Given the description of an element on the screen output the (x, y) to click on. 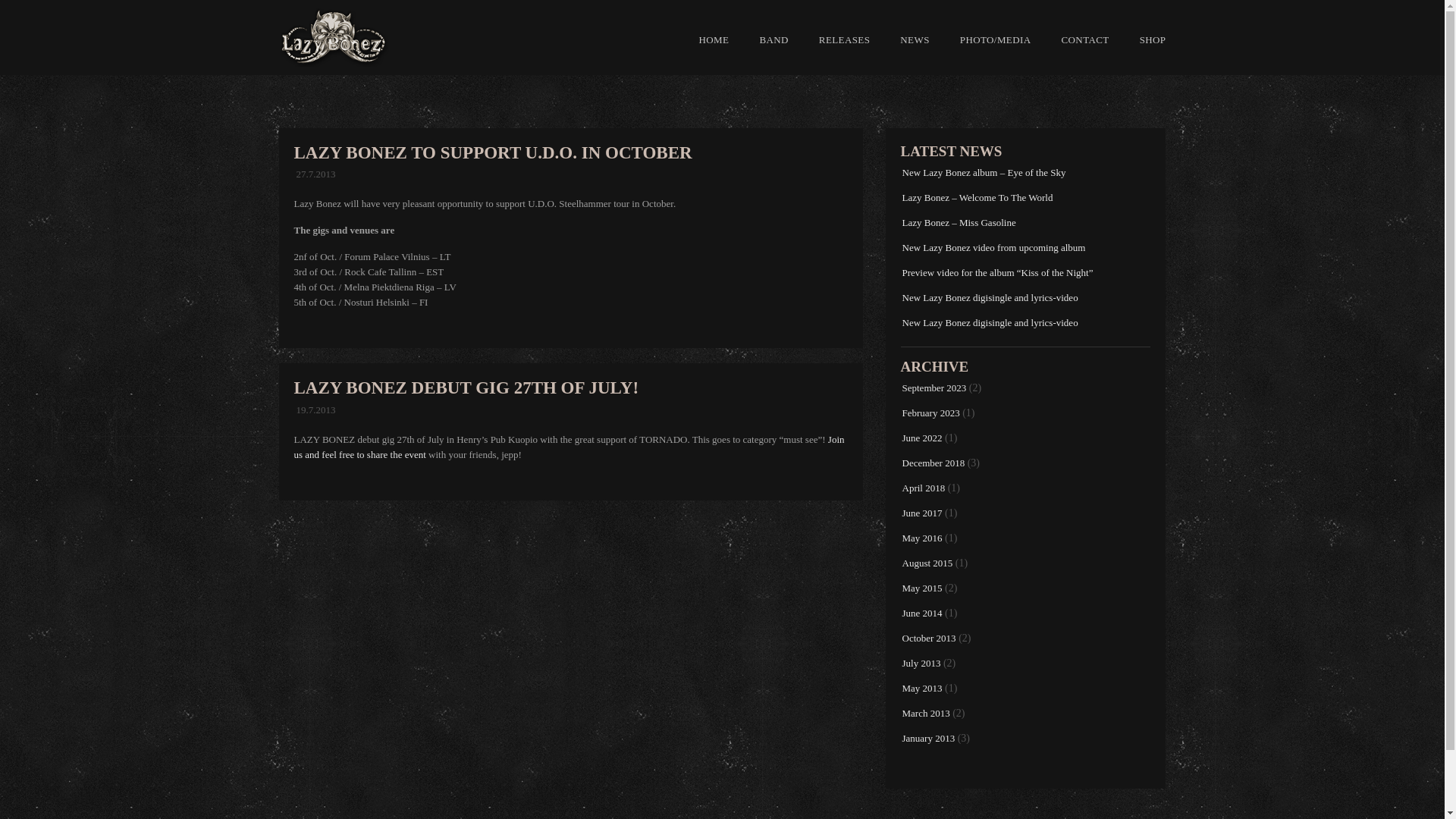
May 2015 (922, 587)
August 2015 (927, 562)
October 2013 (929, 637)
HOME (714, 39)
February 2023 (930, 412)
July 2013 (921, 663)
CONTACT (1084, 39)
December 2018 (933, 462)
Join us and feel free to share the event (569, 447)
January 2013 (928, 737)
